Given the description of an element on the screen output the (x, y) to click on. 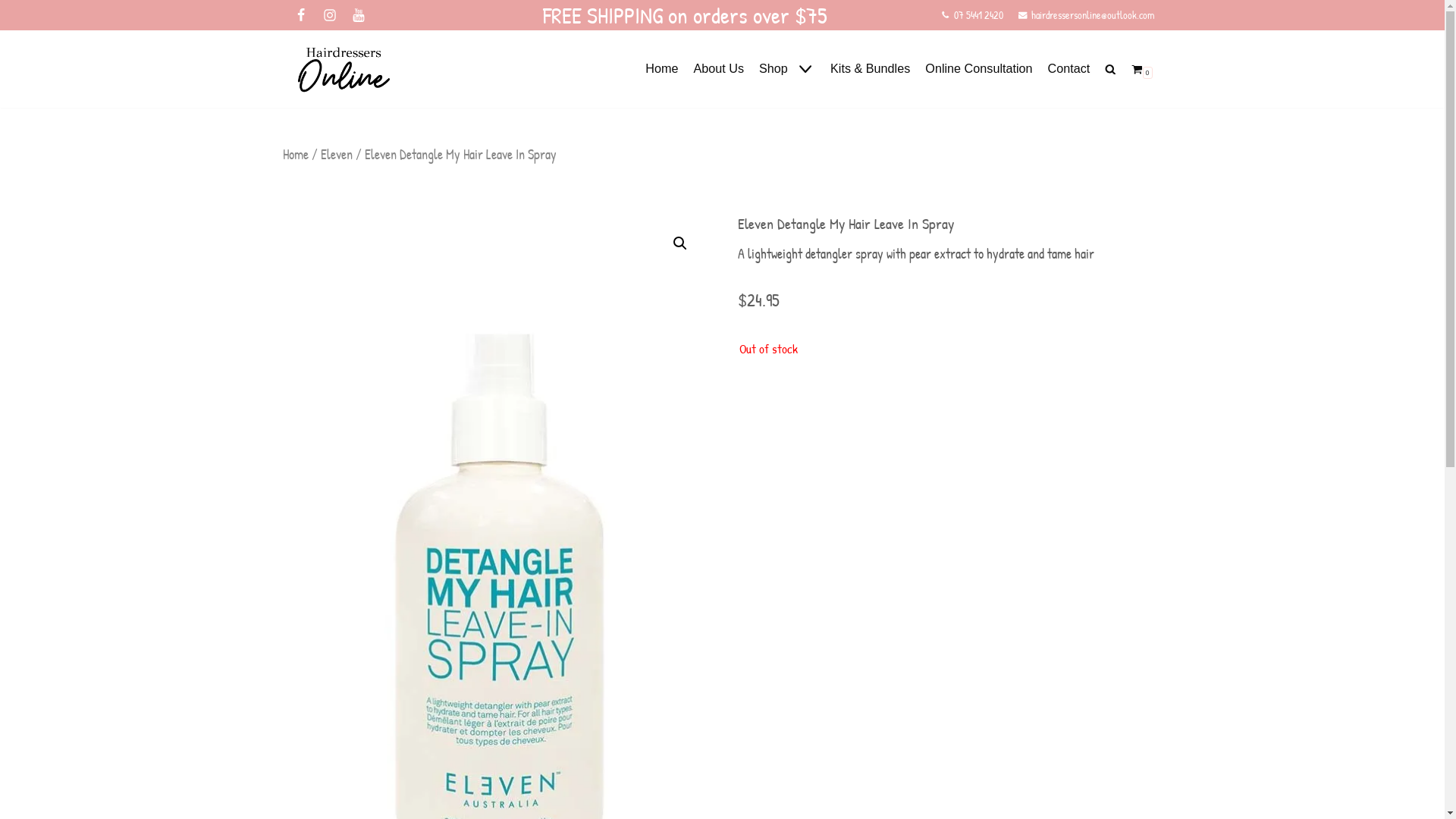
Hairdressers Online Element type: hover (342, 69)
Instagram Element type: hover (328, 14)
Online Consultation Element type: text (978, 68)
0 Element type: text (1141, 68)
Shop Element type: text (787, 68)
Contact Element type: text (1069, 68)
Eleven Element type: text (335, 153)
Facebook Element type: hover (299, 14)
Home Element type: text (294, 153)
07 5441 2420 Element type: text (978, 14)
Skip to content Element type: text (15, 7)
hairdressersonline@outlook.com Element type: text (1092, 14)
Home Element type: text (661, 68)
YouTube Element type: hover (357, 14)
Kits & Bundles Element type: text (870, 68)
About Us Element type: text (718, 68)
